Given the description of an element on the screen output the (x, y) to click on. 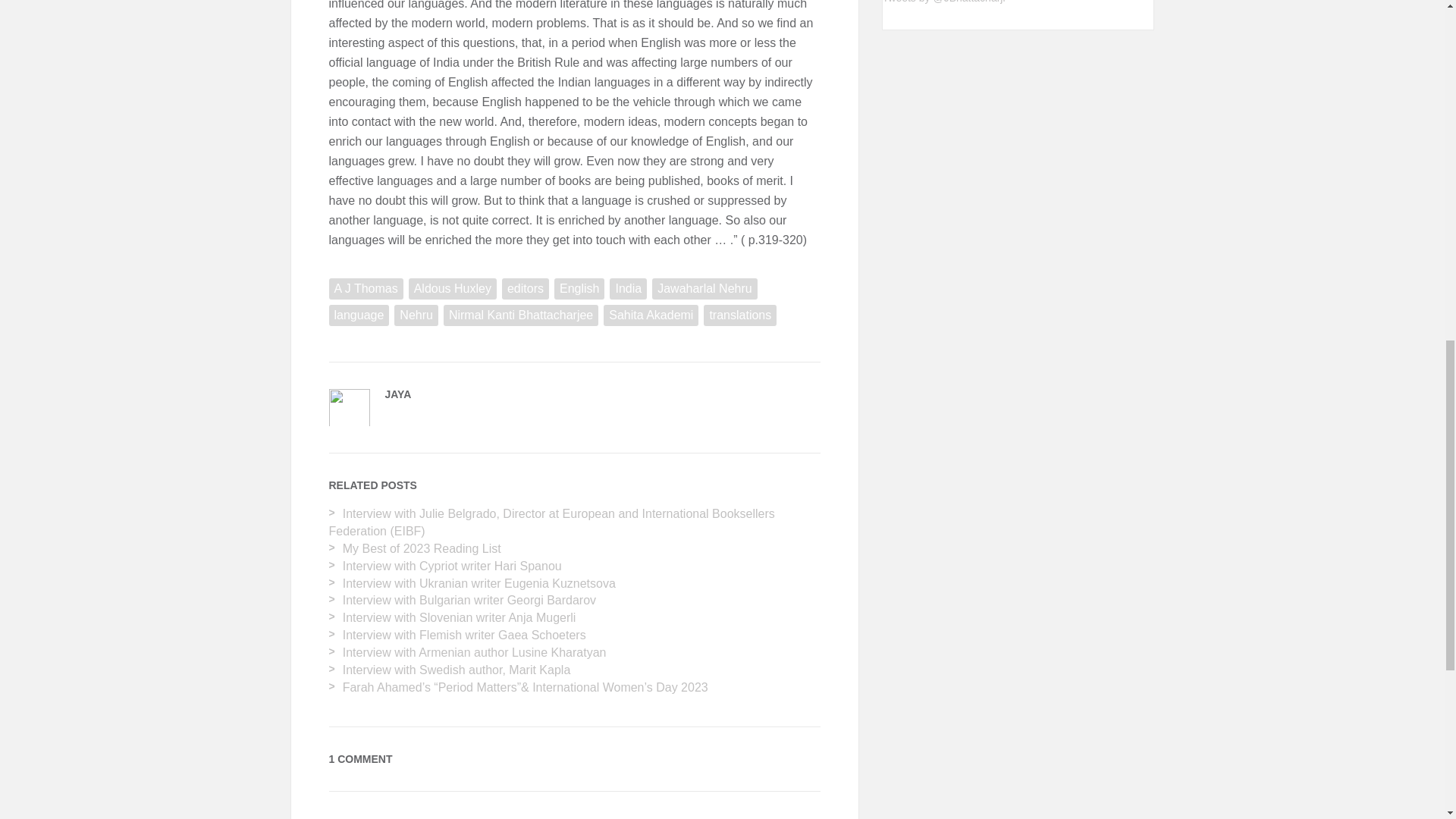
Interview with Slovenian writer Anja Mugerli (459, 617)
translations (739, 314)
A J Thomas (366, 288)
Jawaharlal Nehru (704, 288)
Interview with Cypriot writer Hari Spanou (452, 565)
My Best of 2023 Reading List (421, 548)
Nehru (416, 314)
Nirmal Kanti Bhattacharjee (521, 314)
Interview with Ukranian writer Eugenia Kuznetsova (478, 583)
Interview with Armenian author Lusine Kharatyan (474, 652)
